Given the description of an element on the screen output the (x, y) to click on. 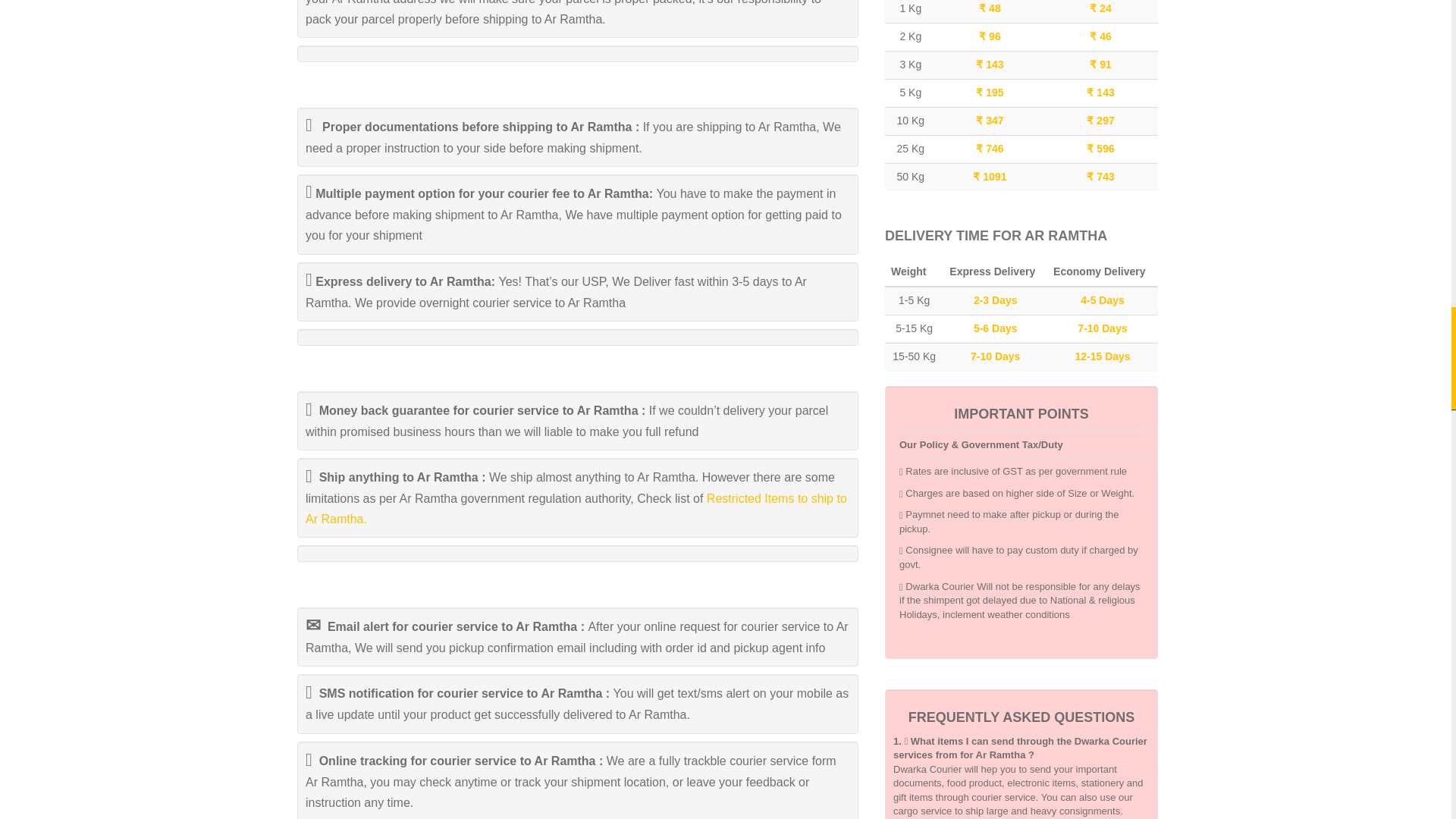
4-5 Days (1102, 300)
7-10 Days (1101, 328)
2-3 Days (995, 300)
12-15 Days (1101, 356)
Restricted Items to ship to Ar Ramtha. (576, 508)
5-6 Days (995, 328)
2-3 Days (995, 300)
7-10 Days (995, 356)
